Given the description of an element on the screen output the (x, y) to click on. 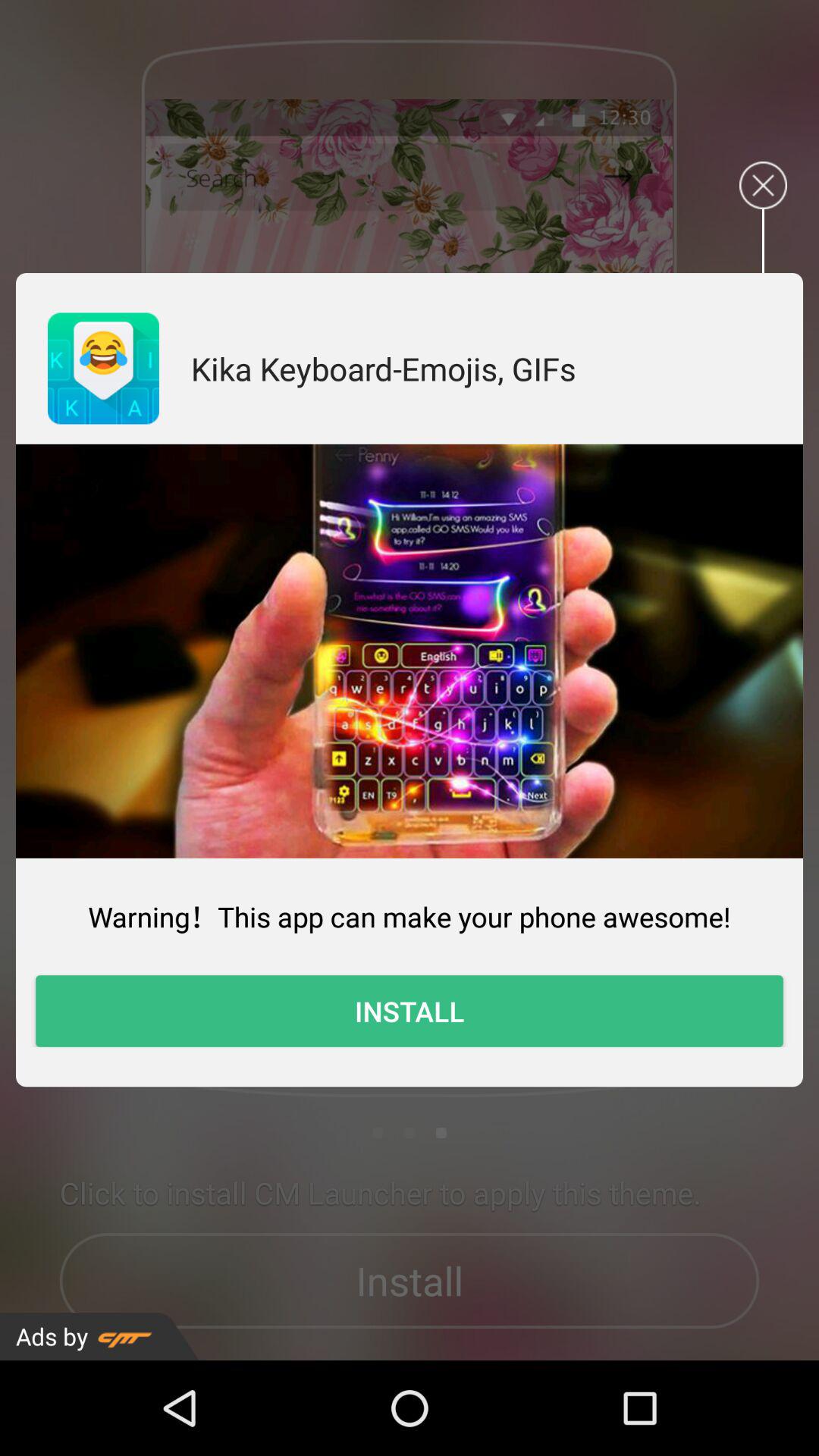
exit the install tab (763, 185)
